Given the description of an element on the screen output the (x, y) to click on. 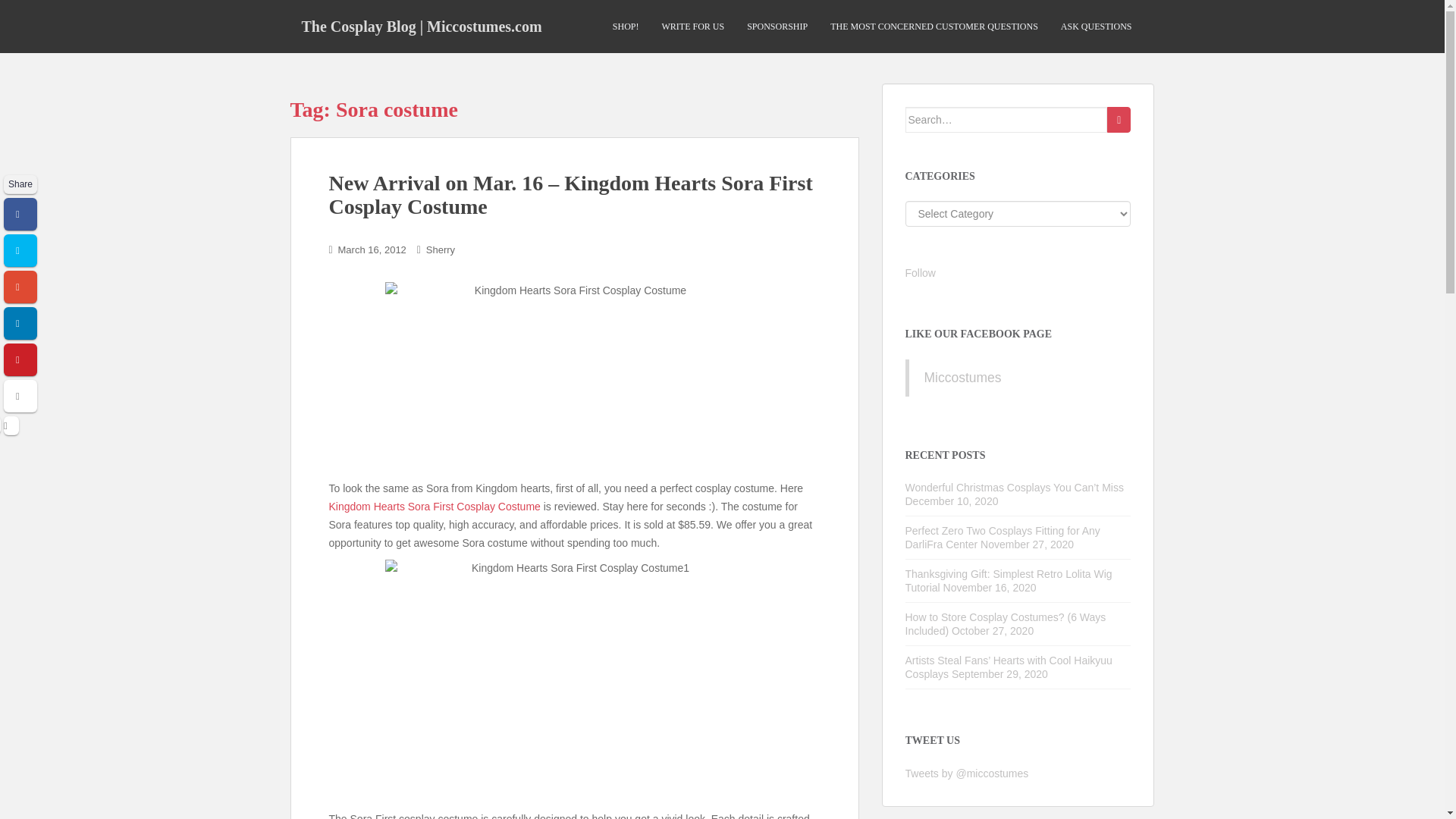
Search for: (1006, 119)
Sherry (440, 249)
Thanksgiving Gift: Simplest Retro Lolita Wig Tutorial (1008, 580)
Kingdom Hearts Sora First Cosplay Costume (434, 506)
March 16, 2012 (371, 249)
ASK QUESTIONS (1096, 26)
Miccostumes (962, 377)
THE MOST CONCERNED CUSTOMER QUESTIONS (933, 26)
WRITE FOR US (692, 26)
SPONSORSHIP (777, 26)
